Given the description of an element on the screen output the (x, y) to click on. 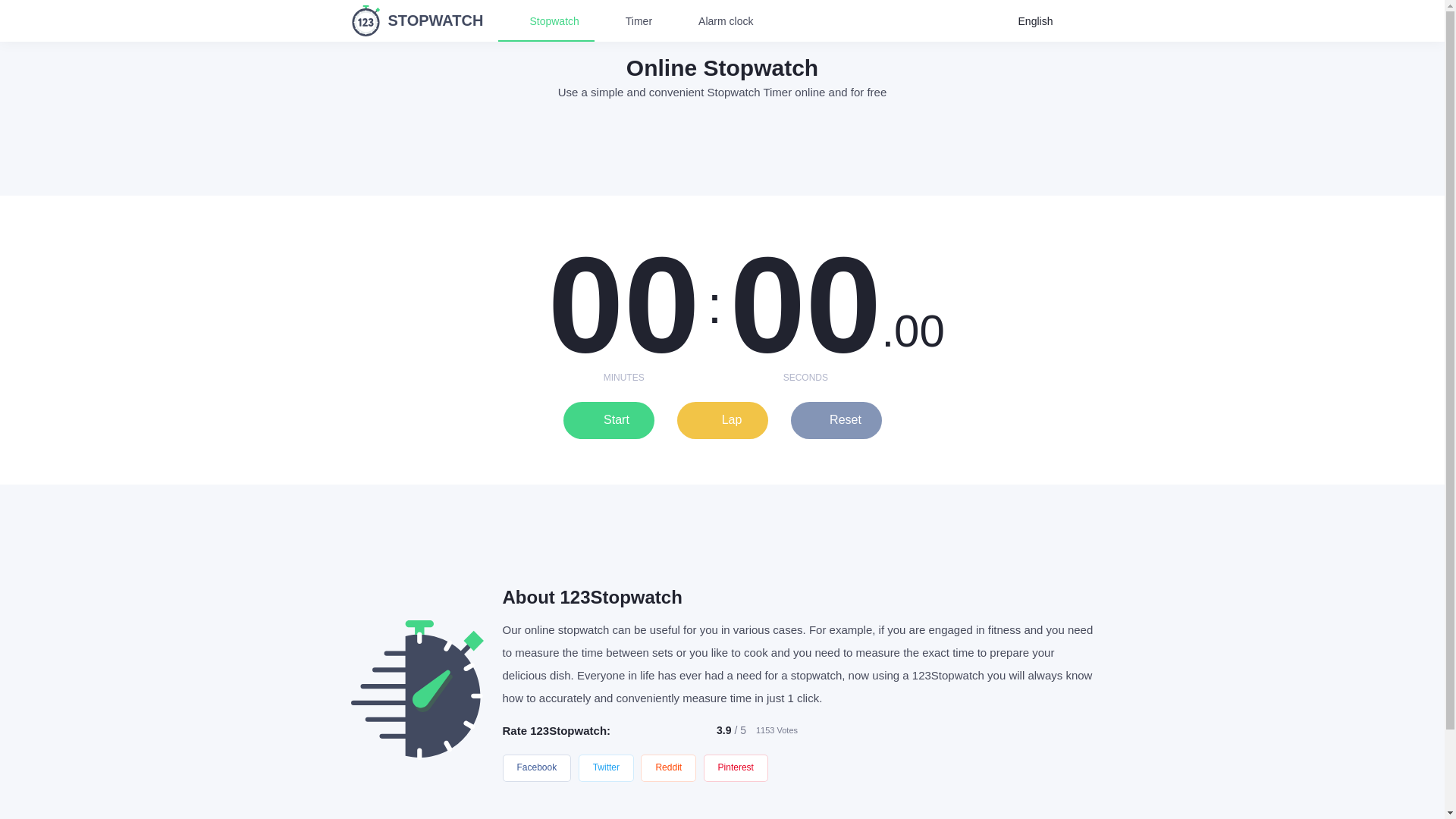
Timer (630, 20)
Advertisement (721, 146)
Alarm clock (717, 20)
Reddit (667, 768)
Start (607, 420)
Reset (835, 420)
STOPWATCH (416, 20)
Facebook (536, 768)
Twitter (605, 768)
Lap (722, 420)
English (1042, 20)
Stopwatch (545, 20)
Advertisement (721, 530)
